Given the description of an element on the screen output the (x, y) to click on. 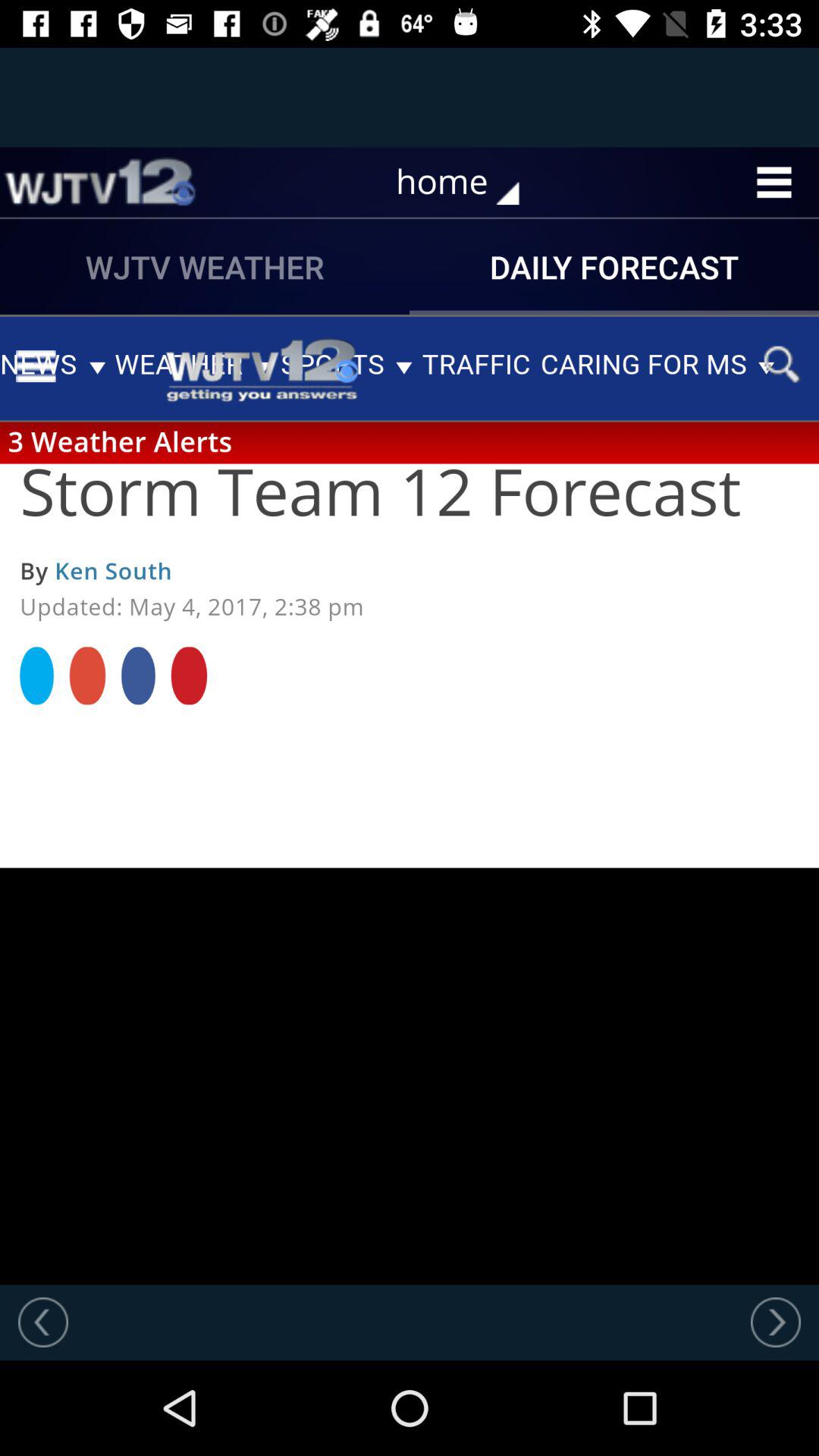
press item to the left of home item (99, 182)
